Given the description of an element on the screen output the (x, y) to click on. 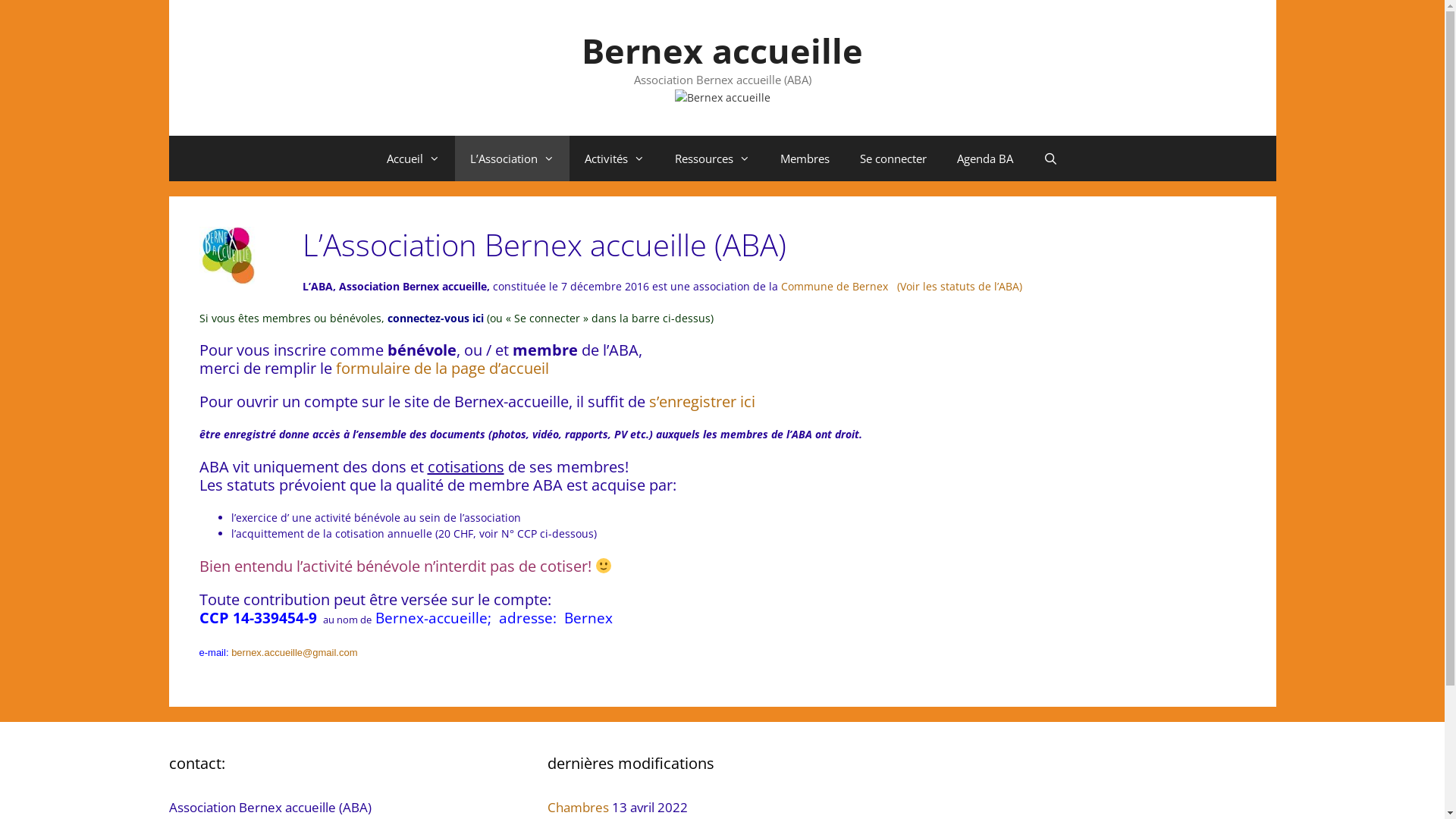
bernex.accueille@gmail.com Element type: text (294, 652)
Accueil Element type: text (413, 158)
Chambres Element type: text (577, 806)
Ressources Element type: text (712, 158)
Agenda BA Element type: text (984, 158)
Se connecter Element type: text (892, 158)
Commune de Bernex Element type: text (833, 286)
connectez-vous ici Element type: text (436, 317)
Membres Element type: text (804, 158)
Bernex accueille Element type: text (721, 50)
